Given the description of an element on the screen output the (x, y) to click on. 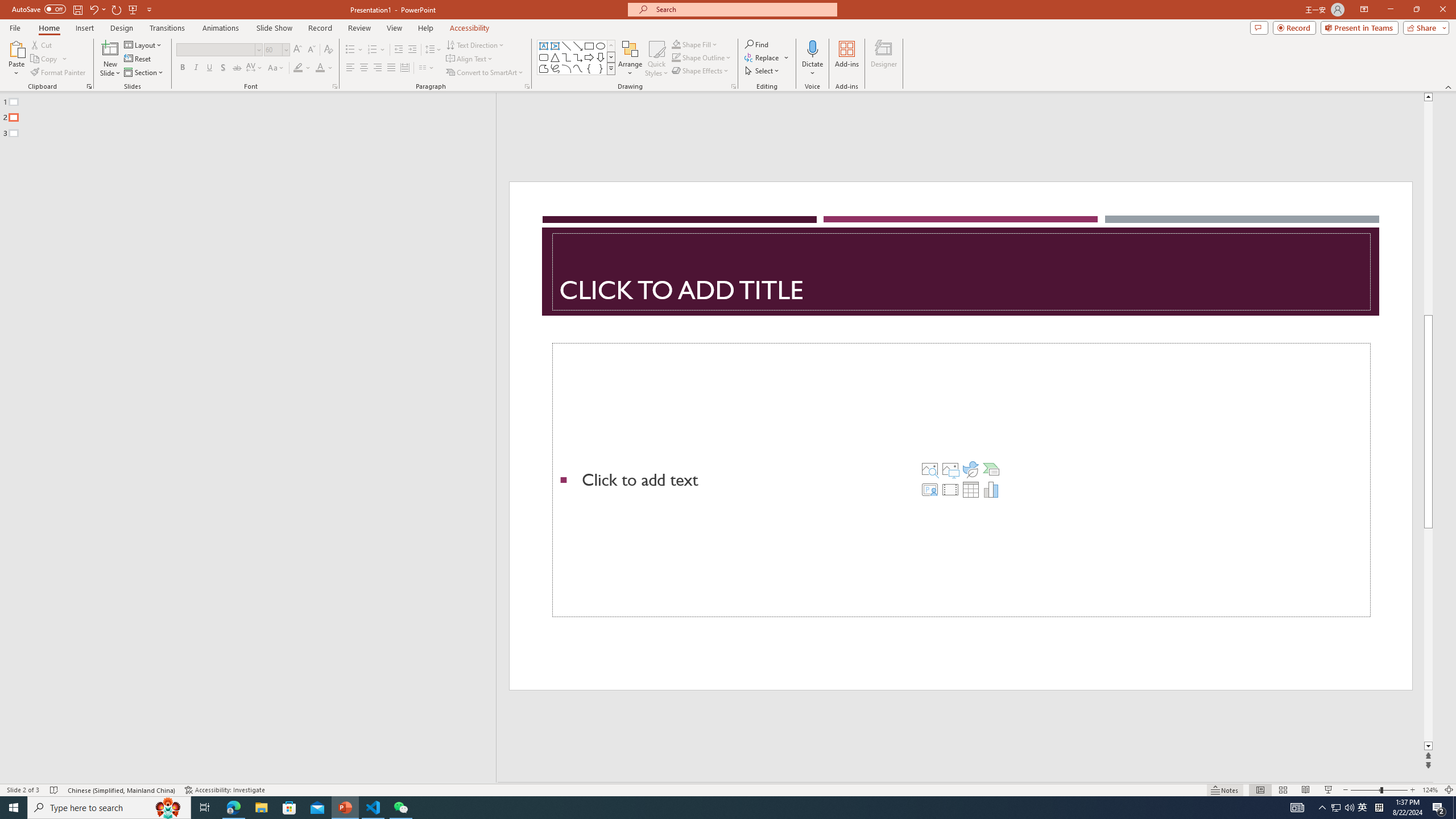
Zoom 124% (1430, 790)
Insert a SmartArt Graphic (991, 469)
